Given the description of an element on the screen output the (x, y) to click on. 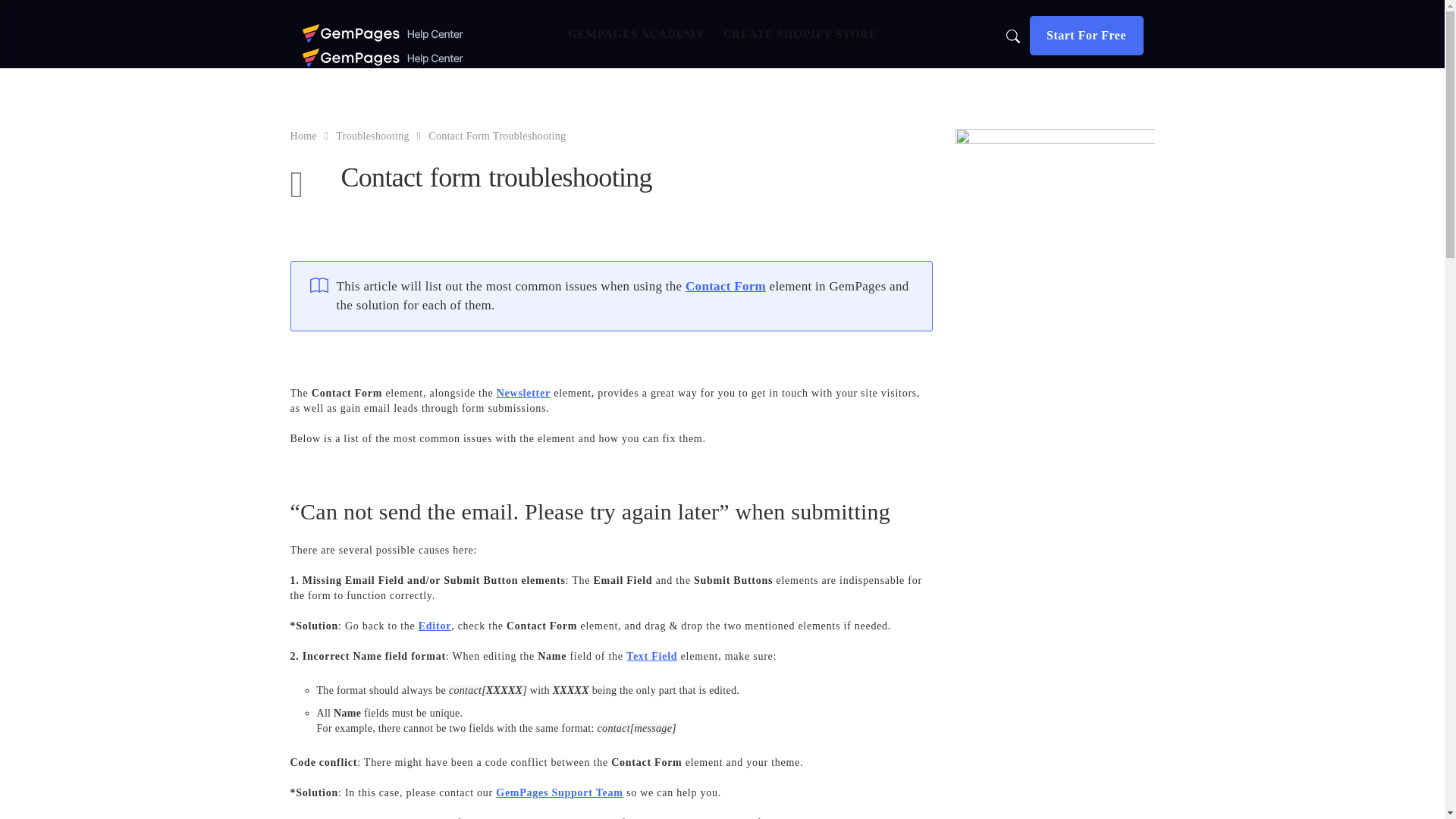
Home (302, 135)
CREATE SHOPIFY STORE (797, 33)
Contact Form (725, 286)
Troubleshooting (372, 135)
Editor (435, 625)
GemPages Support Team (559, 792)
Text Field (651, 655)
Newsletter (523, 392)
Start For Free (1085, 35)
GEMPAGES ACADEMY (628, 33)
